Given the description of an element on the screen output the (x, y) to click on. 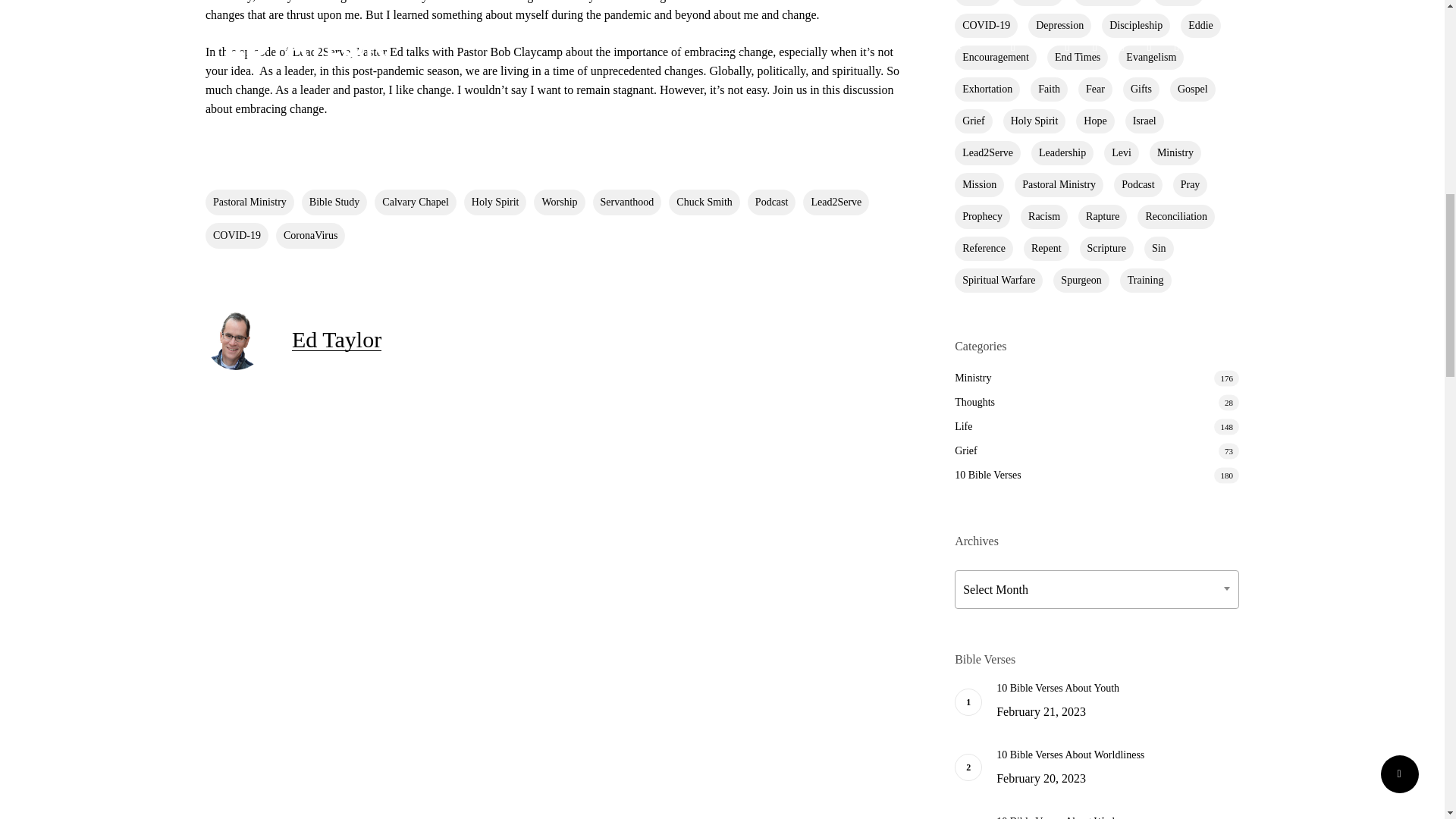
Pastoral Ministry (249, 202)
Servanthood (627, 202)
Bible Study (334, 202)
COVID-19 (236, 235)
Calvary Chapel (414, 202)
Chuck Smith (703, 202)
Lead2Serve (836, 202)
Podcast (772, 202)
Holy Spirit (495, 202)
Select Month (1097, 589)
